Given the description of an element on the screen output the (x, y) to click on. 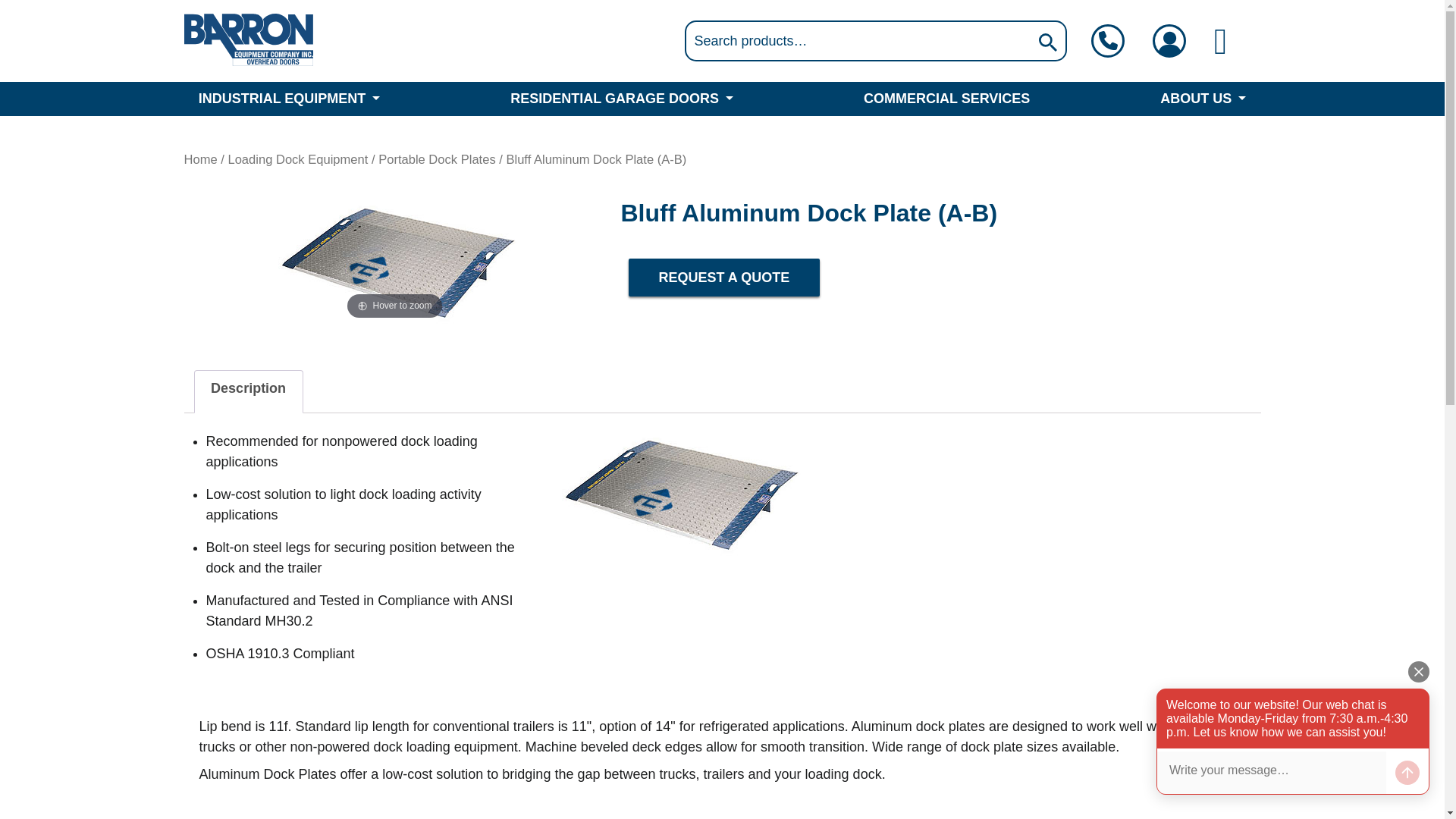
BluffAl1 (677, 492)
